Given the description of an element on the screen output the (x, y) to click on. 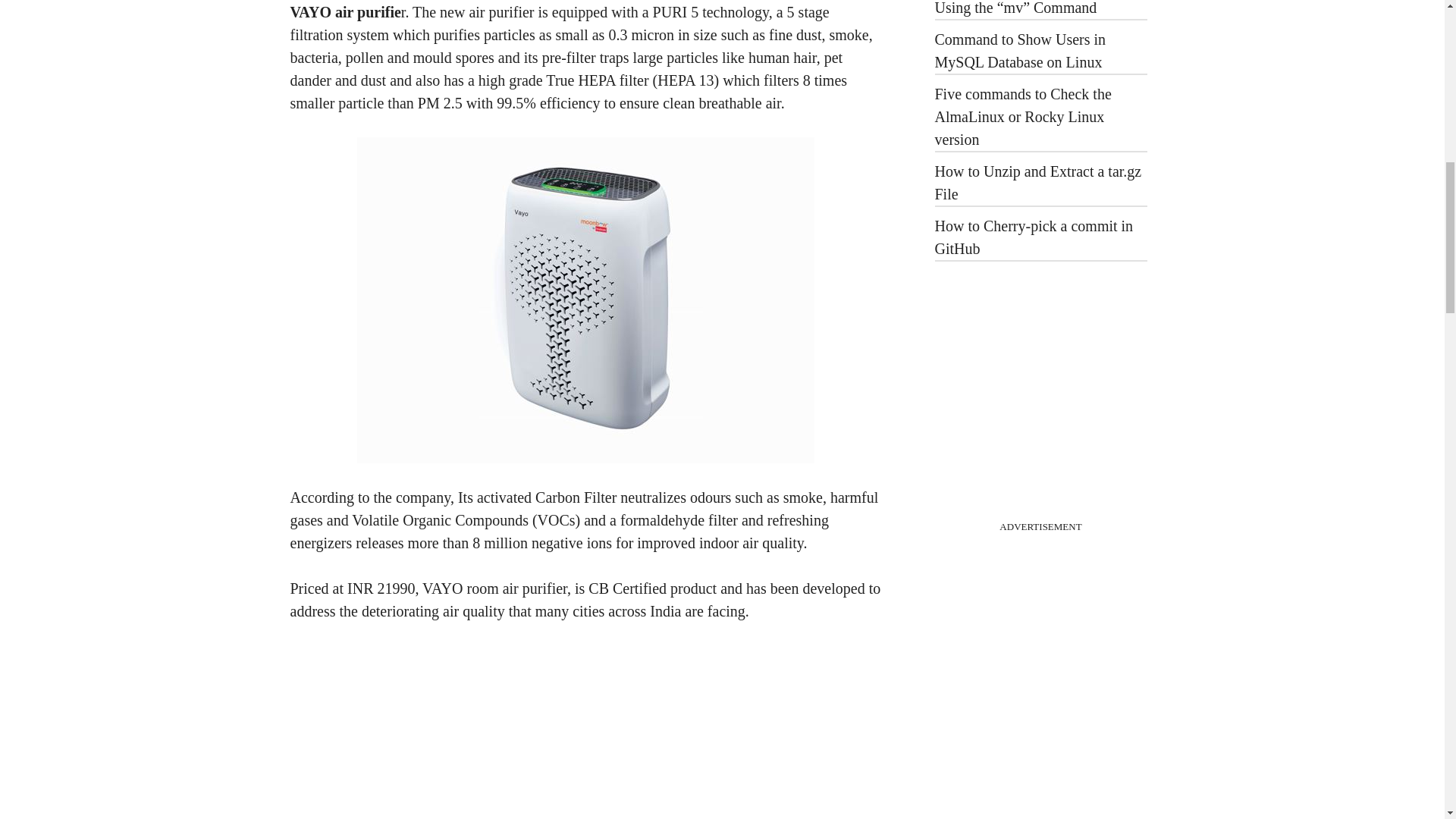
Scroll back to top (1406, 720)
